Given the description of an element on the screen output the (x, y) to click on. 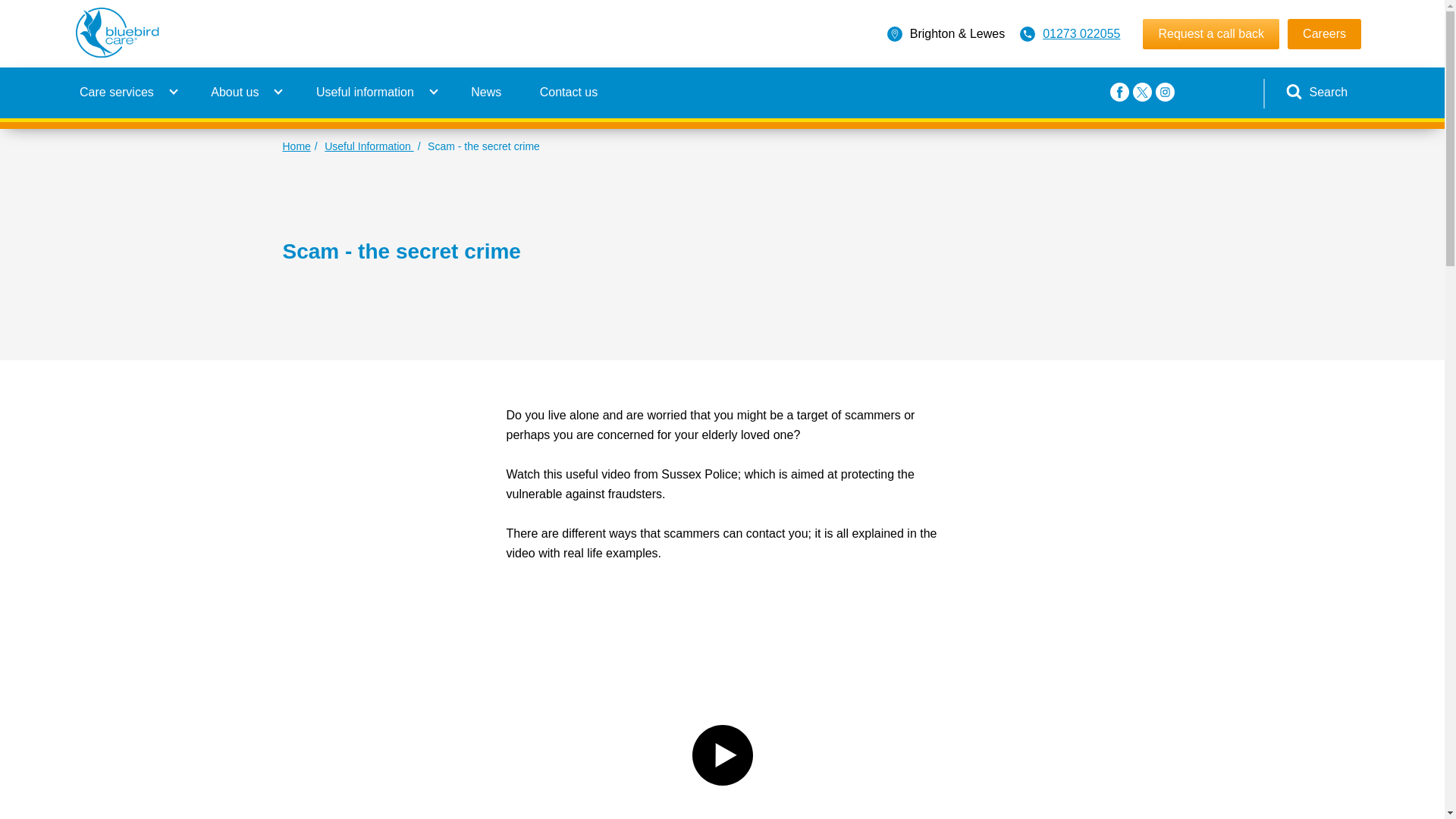
Request a call back (1210, 33)
01273 022055 (1080, 33)
Careers (1324, 33)
